Given the description of an element on the screen output the (x, y) to click on. 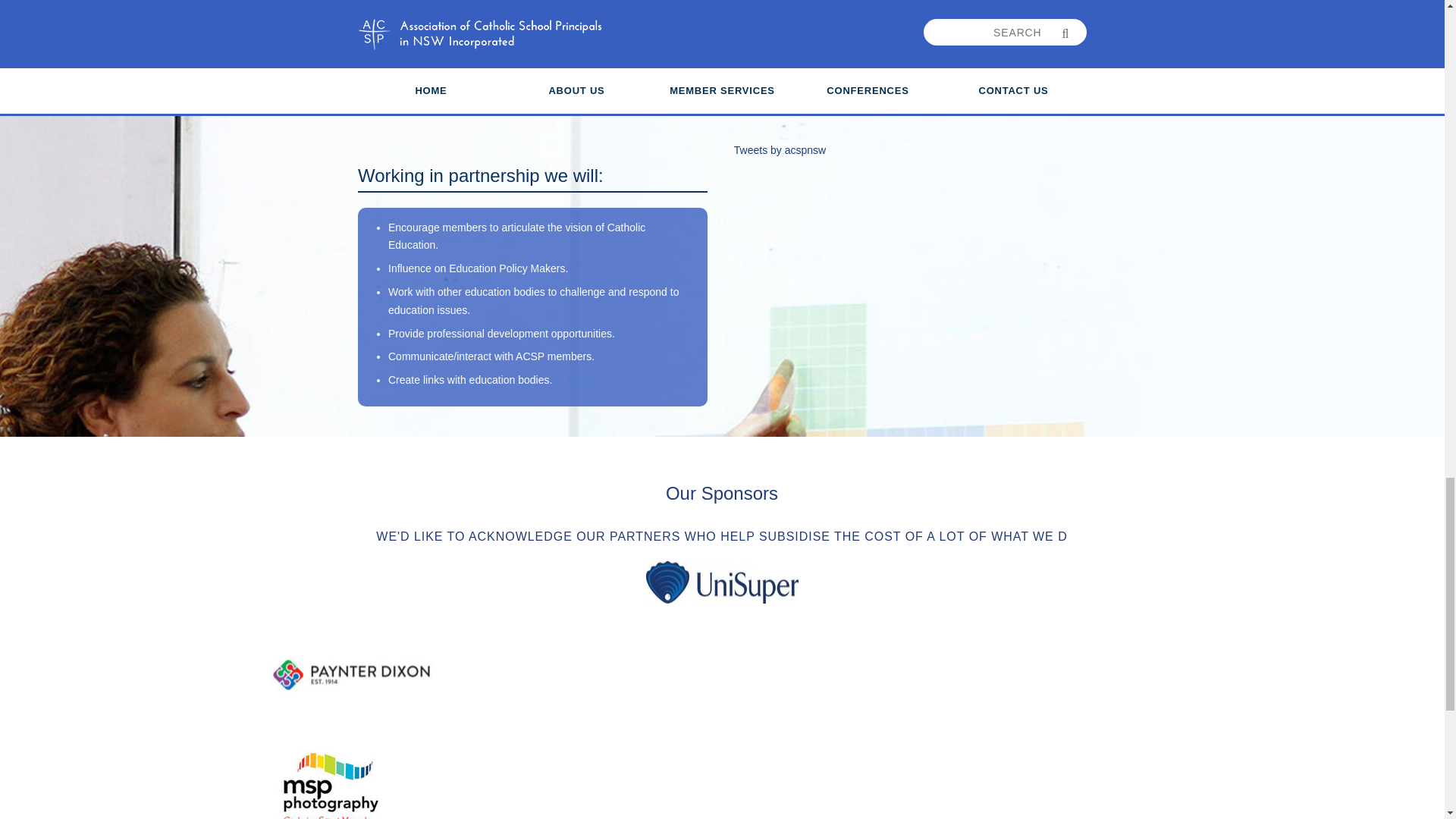
Tweets by acspnsw (779, 150)
